Given the description of an element on the screen output the (x, y) to click on. 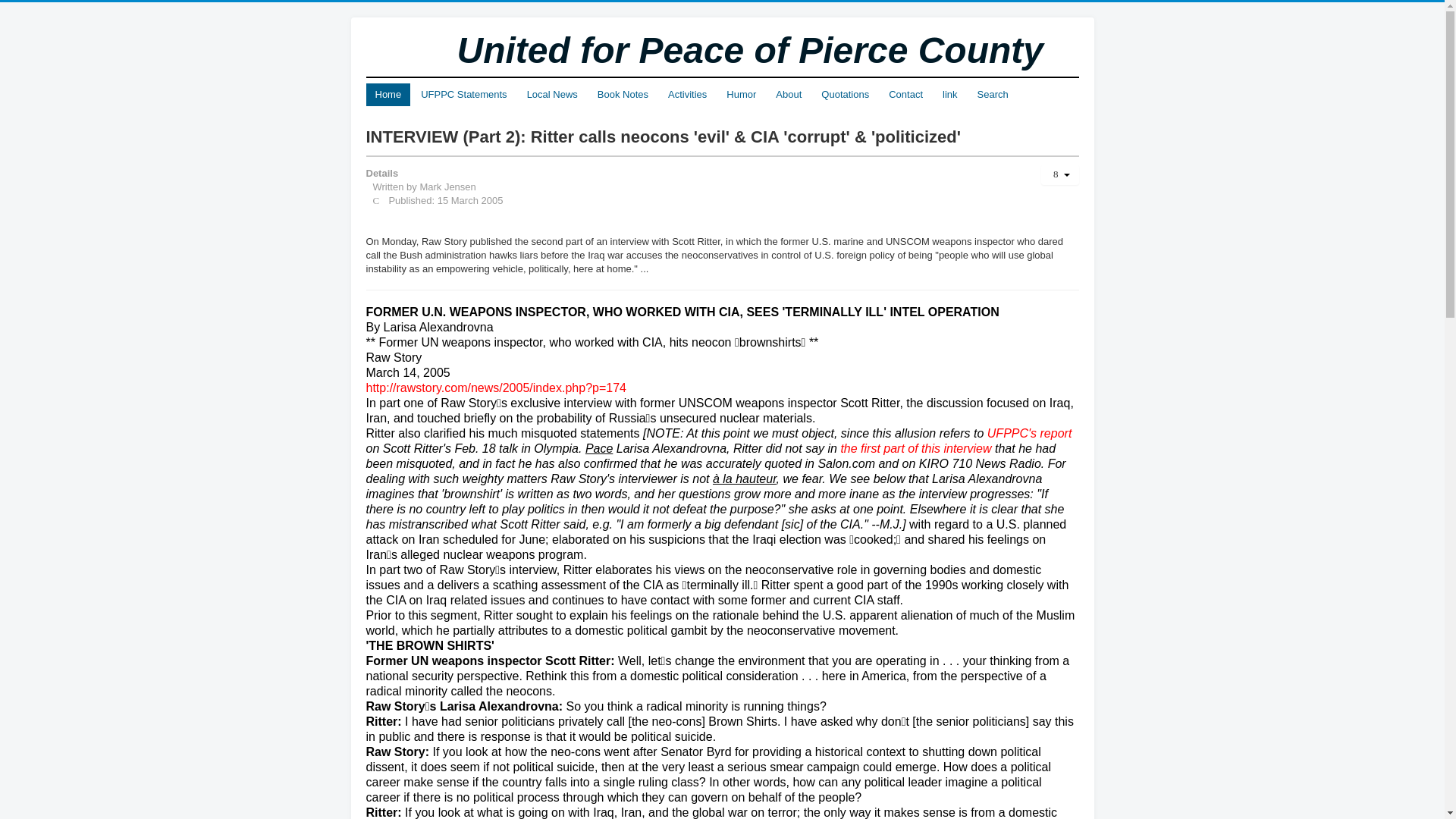
UFPPC's report (1029, 432)
Contact (905, 94)
About (788, 94)
Search (992, 94)
Activities (687, 94)
Local News (552, 94)
United for Peace of Pierce County (658, 50)
the first part of this interview (915, 448)
Home (387, 94)
Quotations (844, 94)
Book Notes (623, 94)
United for Peace of Pierce County (750, 50)
Humor (741, 94)
link (949, 94)
UFPPC Statements (463, 94)
